Given the description of an element on the screen output the (x, y) to click on. 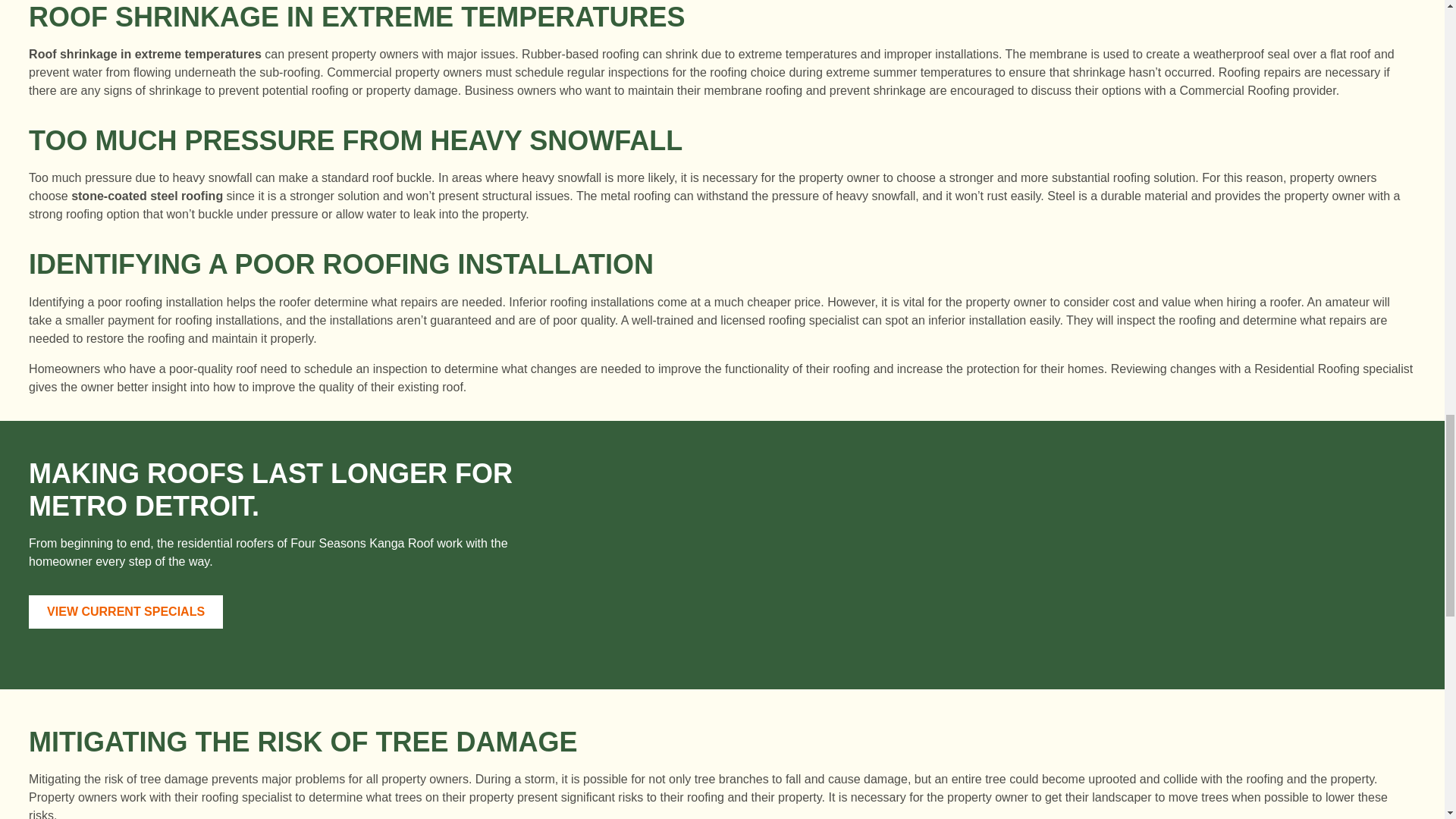
stone-coated steel roofing (146, 195)
VIEW CURRENT SPECIALS (125, 611)
Roof shrinkage in extreme temperatures (145, 53)
